Given the description of an element on the screen output the (x, y) to click on. 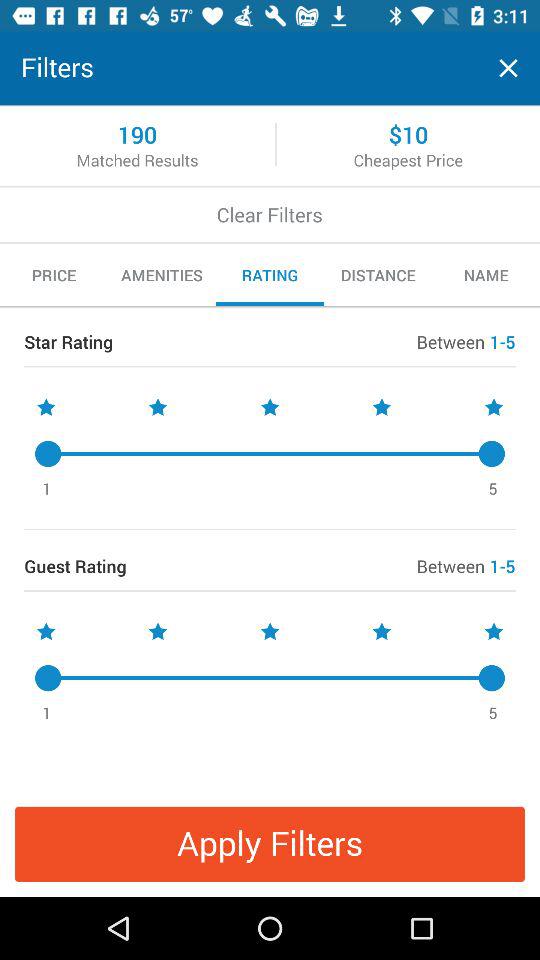
choose the item next to rating icon (378, 275)
